Given the description of an element on the screen output the (x, y) to click on. 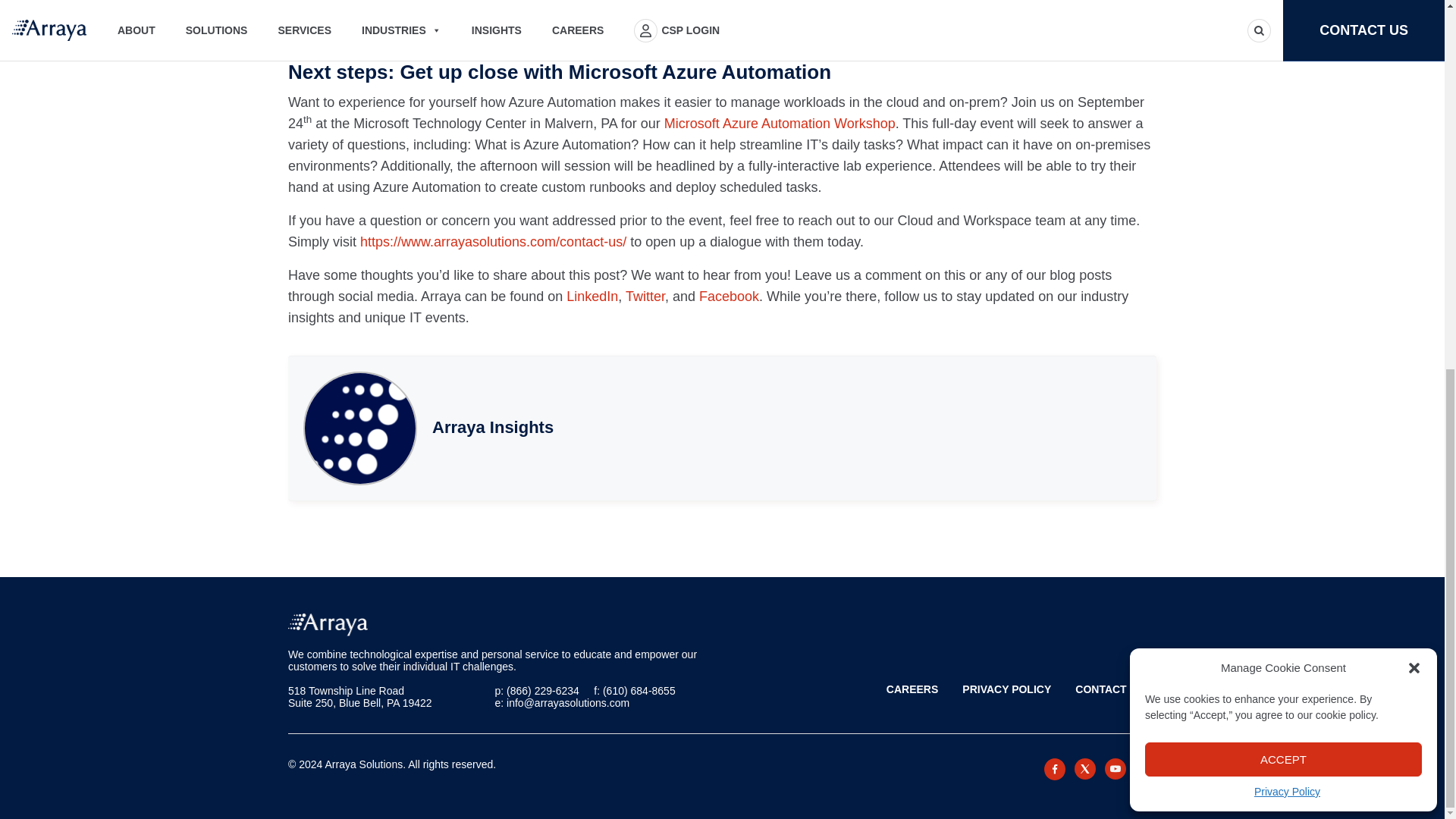
Privacy Policy (1286, 123)
ACCEPT (1283, 90)
